Given the description of an element on the screen output the (x, y) to click on. 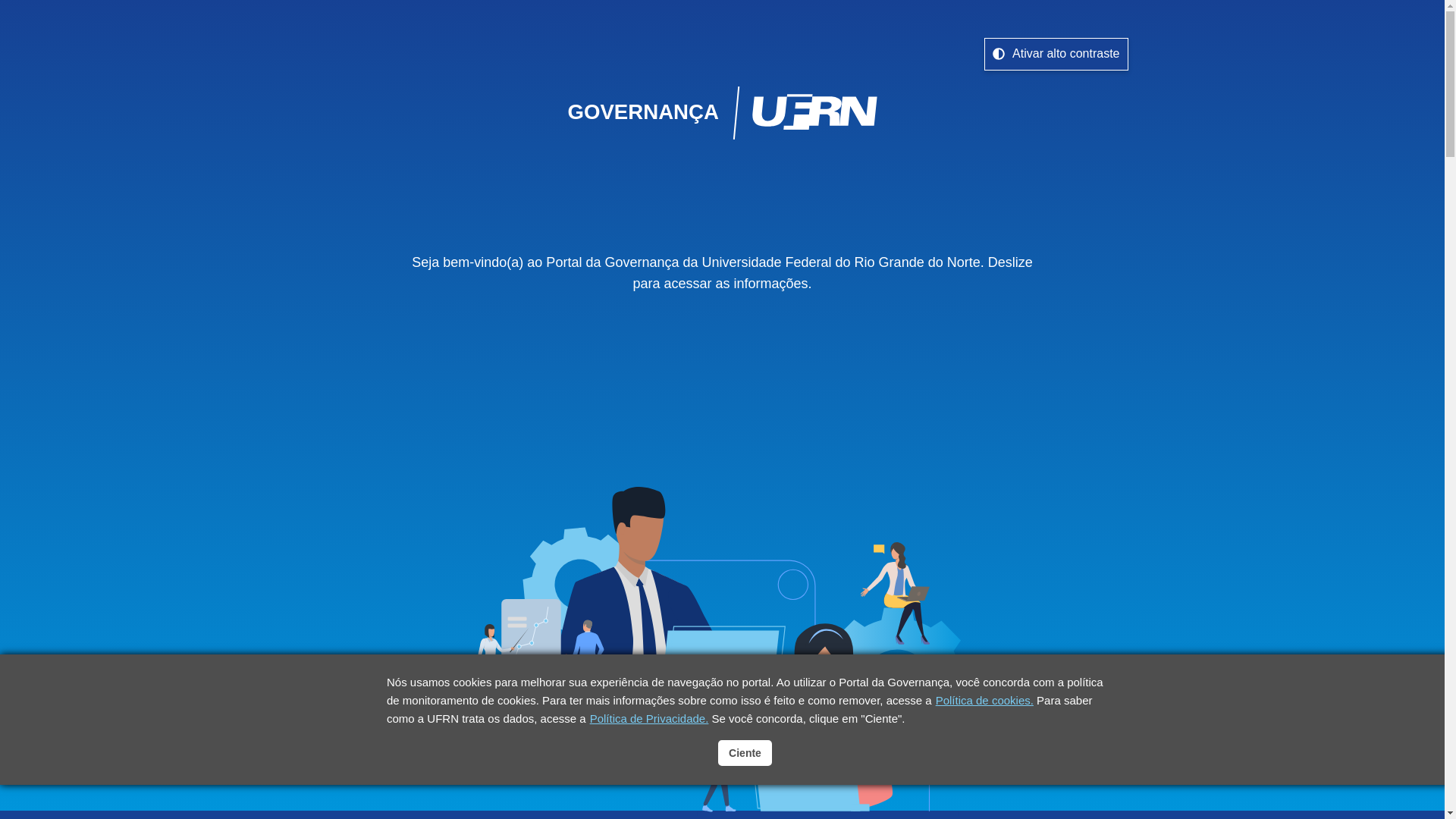
Alterar para o modo de contraste
Ativar alto contraste Element type: text (1055, 53)
Ciente Element type: text (744, 752)
